Given the description of an element on the screen output the (x, y) to click on. 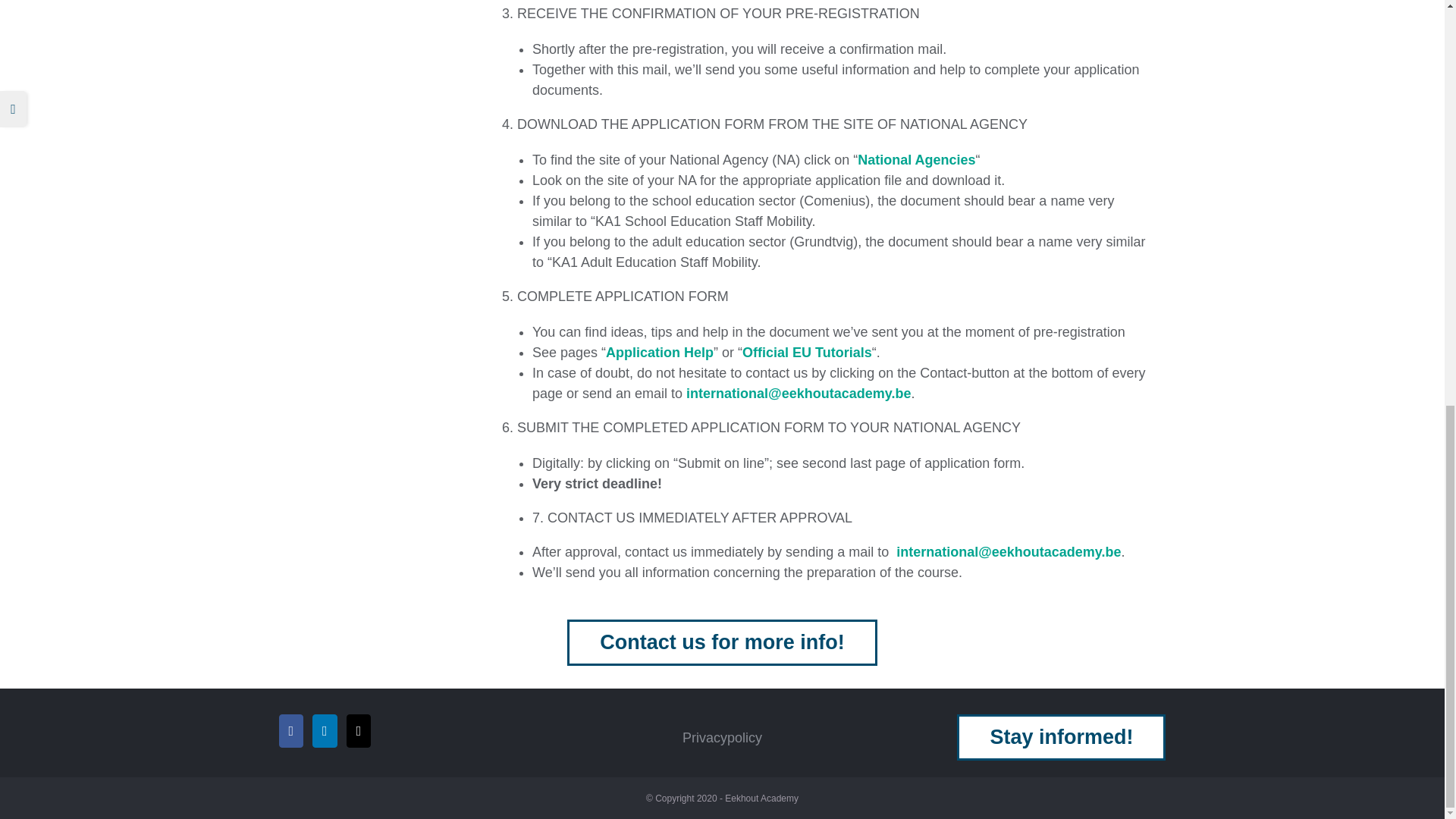
Application Help (659, 352)
Official EU Tutorials (807, 352)
Contact us for more info! (722, 642)
National Agencies (916, 159)
Privacypolicy (721, 737)
Stay informed! (1061, 736)
